Given the description of an element on the screen output the (x, y) to click on. 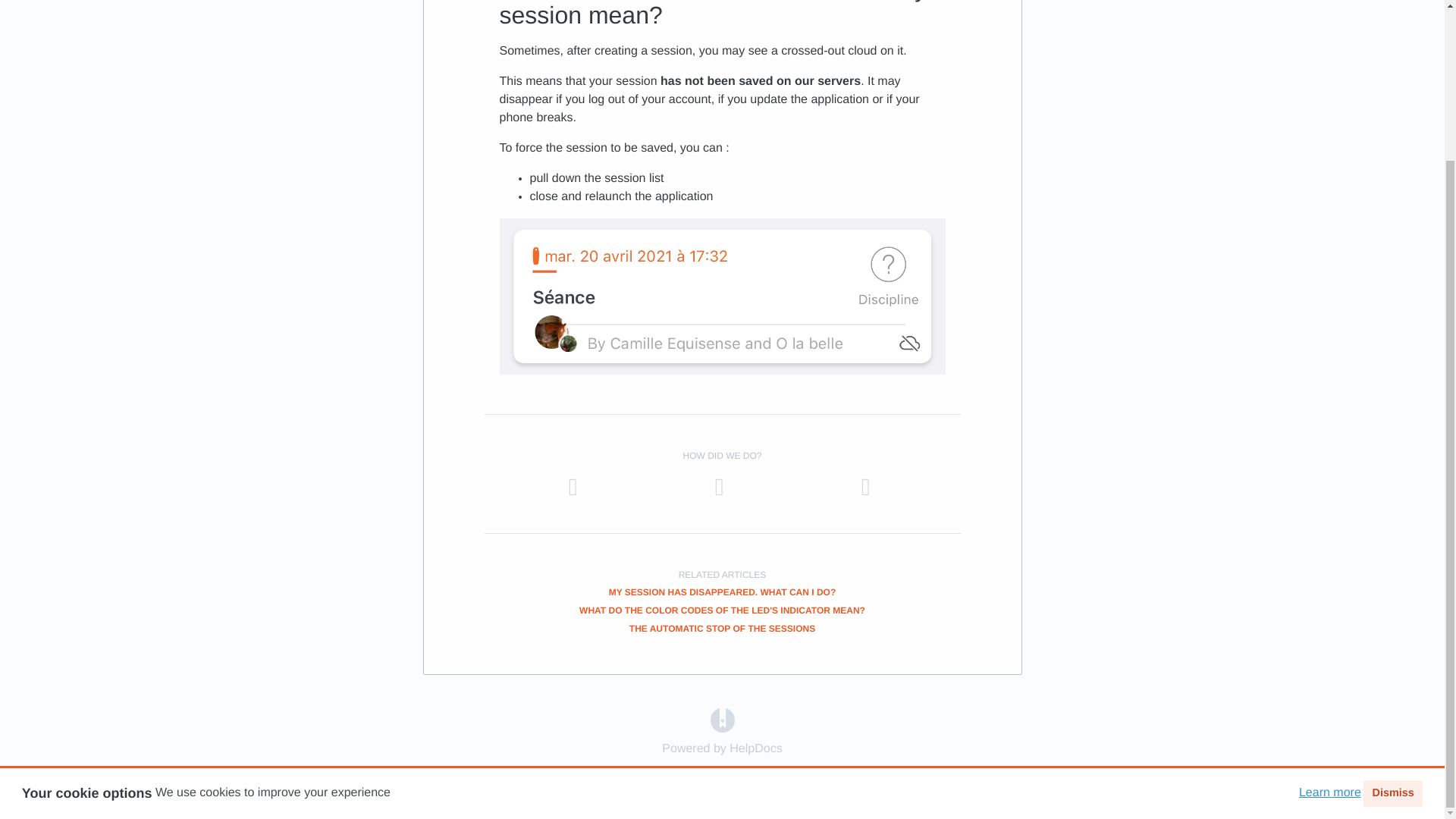
THE AUTOMATIC STOP OF THE SESSIONS (721, 628)
Learn more (1329, 603)
WHAT DO THE COLOR CODES OF THE LED'S INDICATOR MEAN? (721, 610)
MY SESSION HAS DISAPPEARED. WHAT CAN I DO? (721, 592)
Powered by HelpDocs (721, 748)
Dismiss (1392, 604)
Powered by HelpDocs (721, 719)
